Given the description of an element on the screen output the (x, y) to click on. 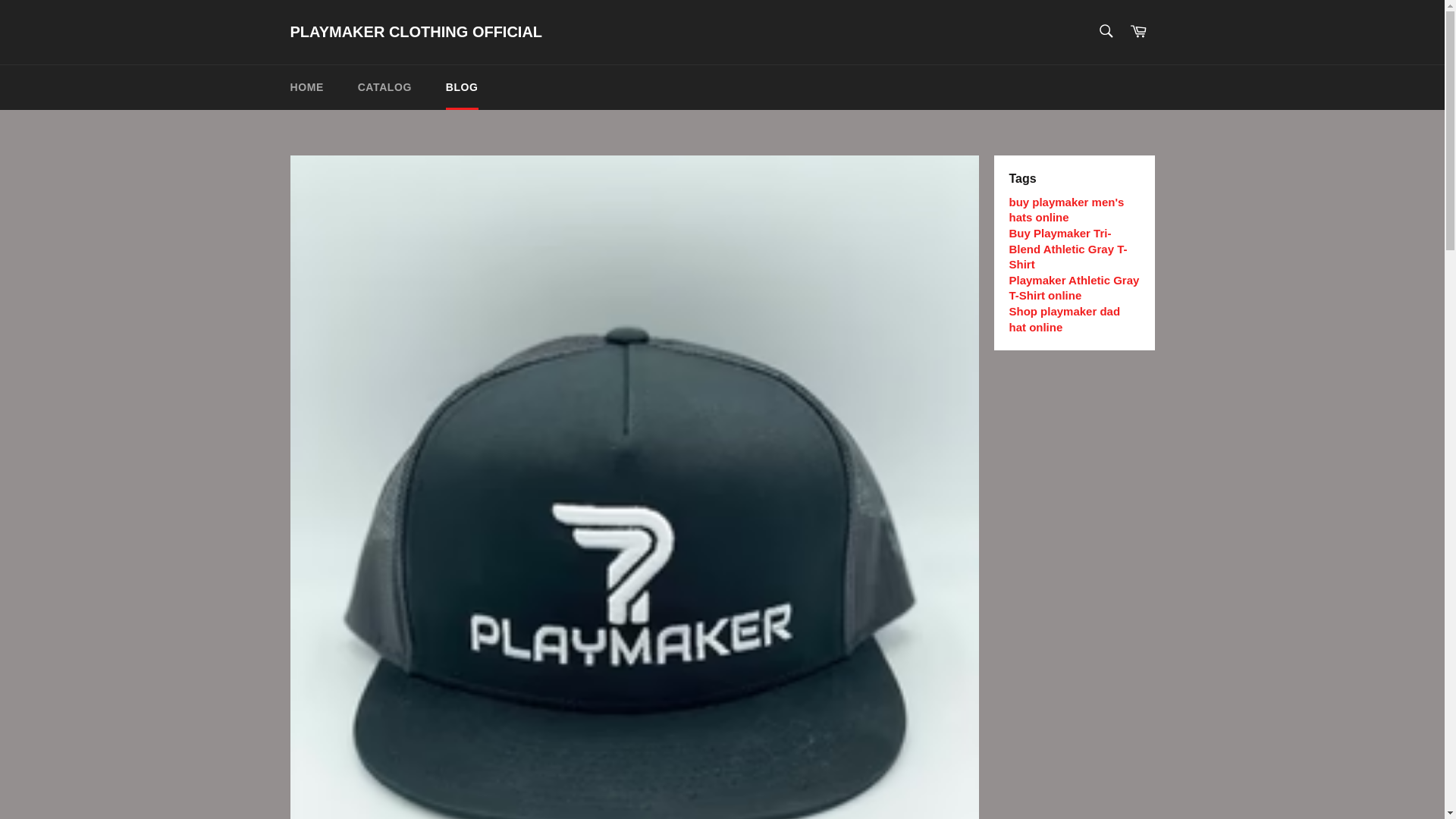
Show articles tagged buy playmaker men's hats online (1066, 209)
Show articles tagged Shop playmaker dad hat online (1064, 318)
buy playmaker men's hats online (1066, 209)
PLAYMAKER CLOTHING OFFICIAL (415, 32)
HOME (306, 87)
BLOG (461, 87)
Playmaker Athletic Gray T-Shirt online (1073, 287)
Search (1104, 30)
CATALOG (384, 87)
